Given the description of an element on the screen output the (x, y) to click on. 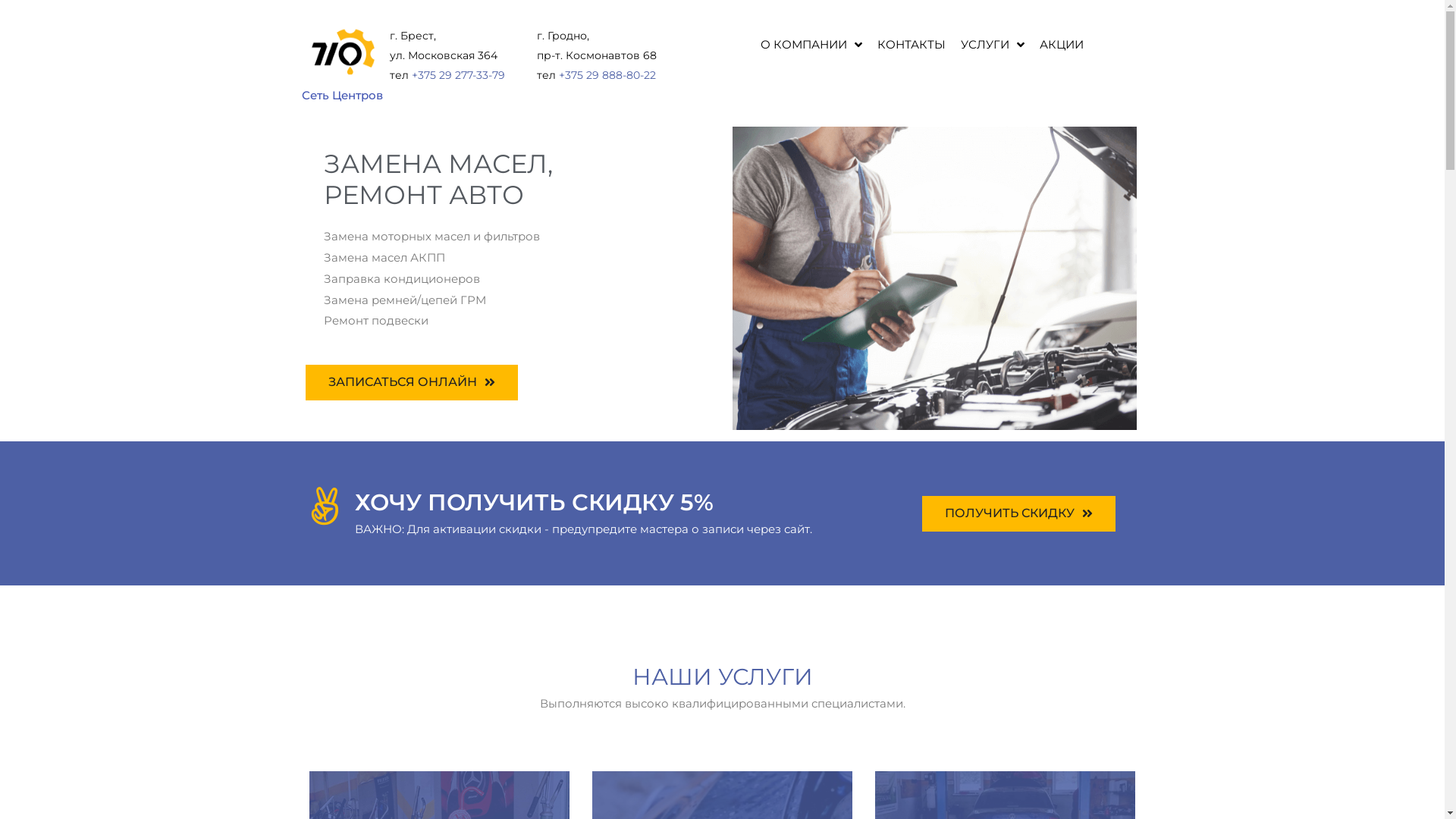
+375 29 277-33-79 Element type: text (458, 74)
+375 29 888-80-22 Element type: text (606, 74)
